Given the description of an element on the screen output the (x, y) to click on. 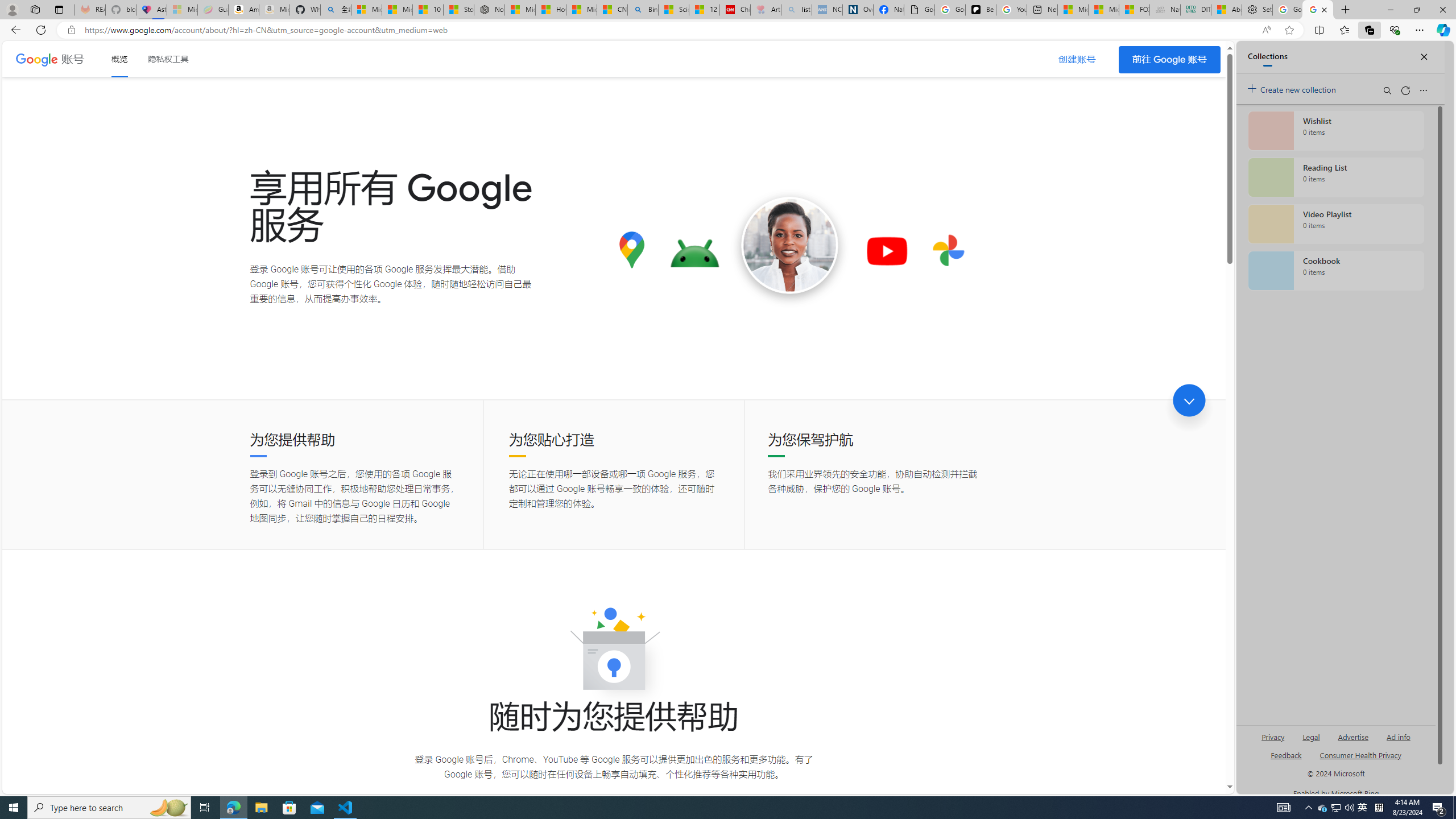
AutomationID: genId96 (1285, 759)
Navy Quest (1164, 9)
Google Analytics Opt-out Browser Add-on Download Page (919, 9)
Be Smart | creating Science videos | Patreon (980, 9)
